Given the description of an element on the screen output the (x, y) to click on. 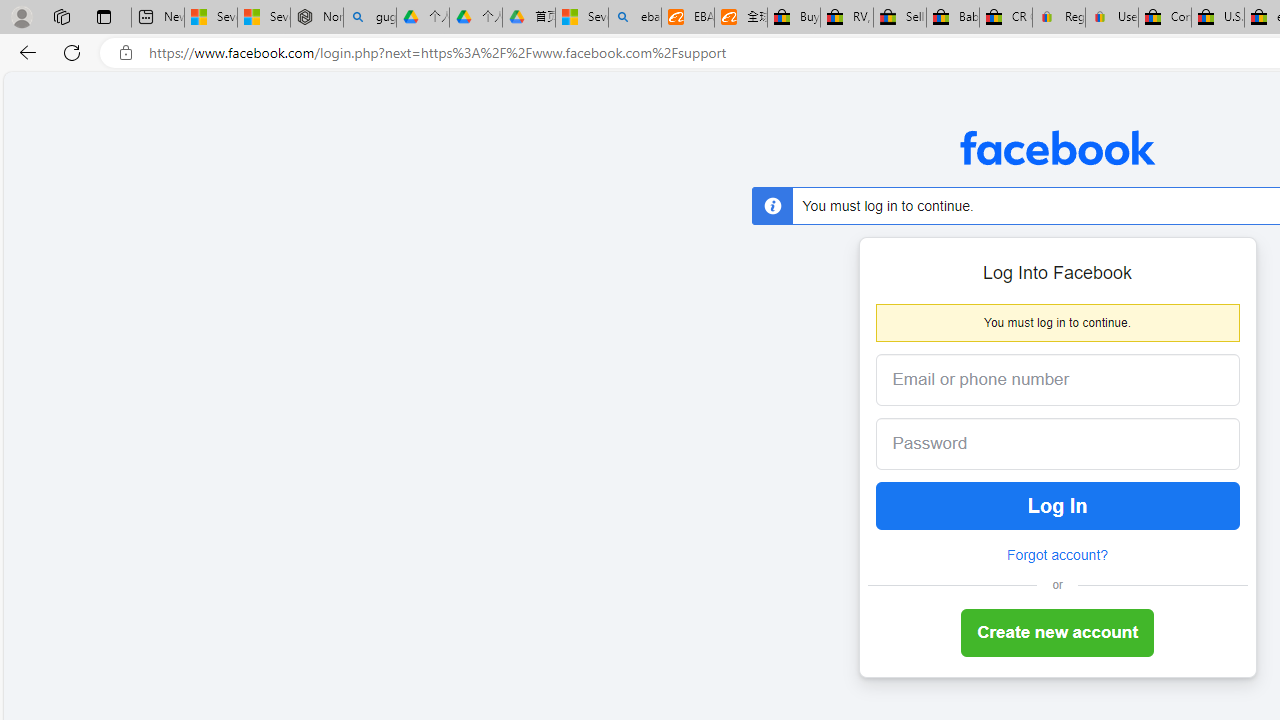
U.S. State Privacy Disclosures - eBay Inc. (1217, 17)
Consumer Health Data Privacy Policy - eBay Inc. (1165, 17)
Log In (1057, 506)
Baby Keepsakes & Announcements for sale | eBay (952, 17)
Buy Auto Parts & Accessories | eBay (794, 17)
Forgot account? (1057, 555)
Create new account (1057, 633)
Password (1042, 443)
